Given the description of an element on the screen output the (x, y) to click on. 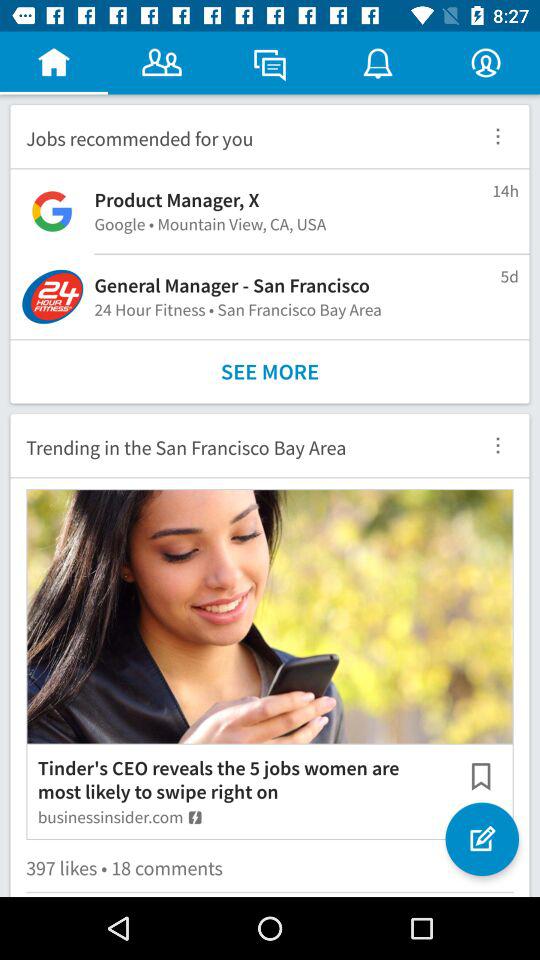
swipe until trending in the (238, 445)
